Given the description of an element on the screen output the (x, y) to click on. 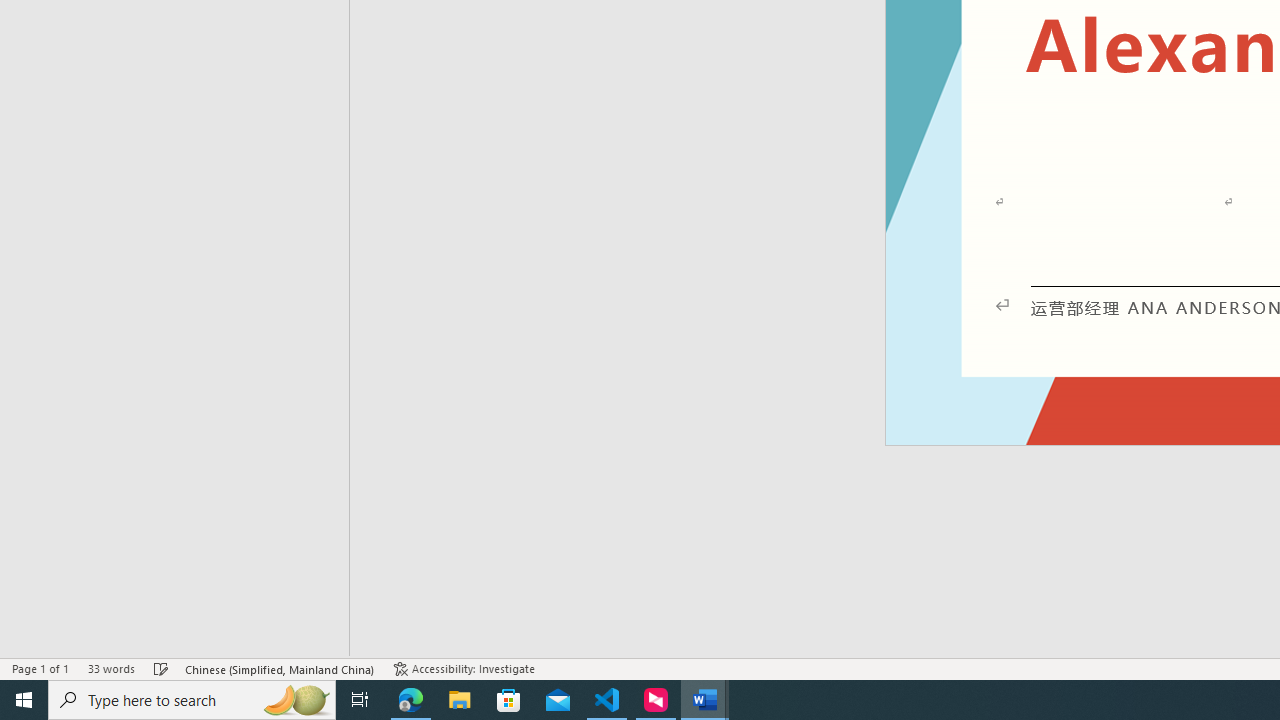
Page Number Page 1 of 1 (39, 668)
